Given the description of an element on the screen output the (x, y) to click on. 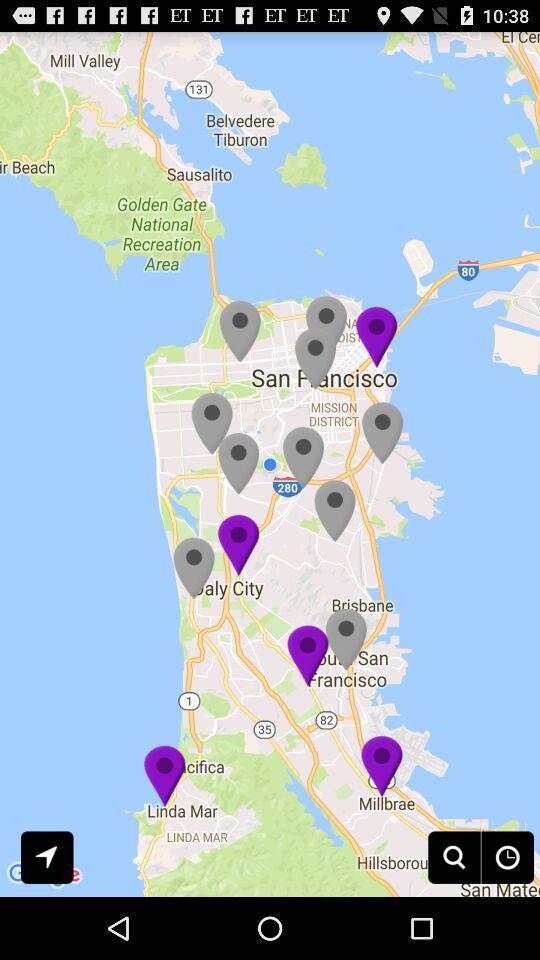
press item at the center (270, 463)
